Given the description of an element on the screen output the (x, y) to click on. 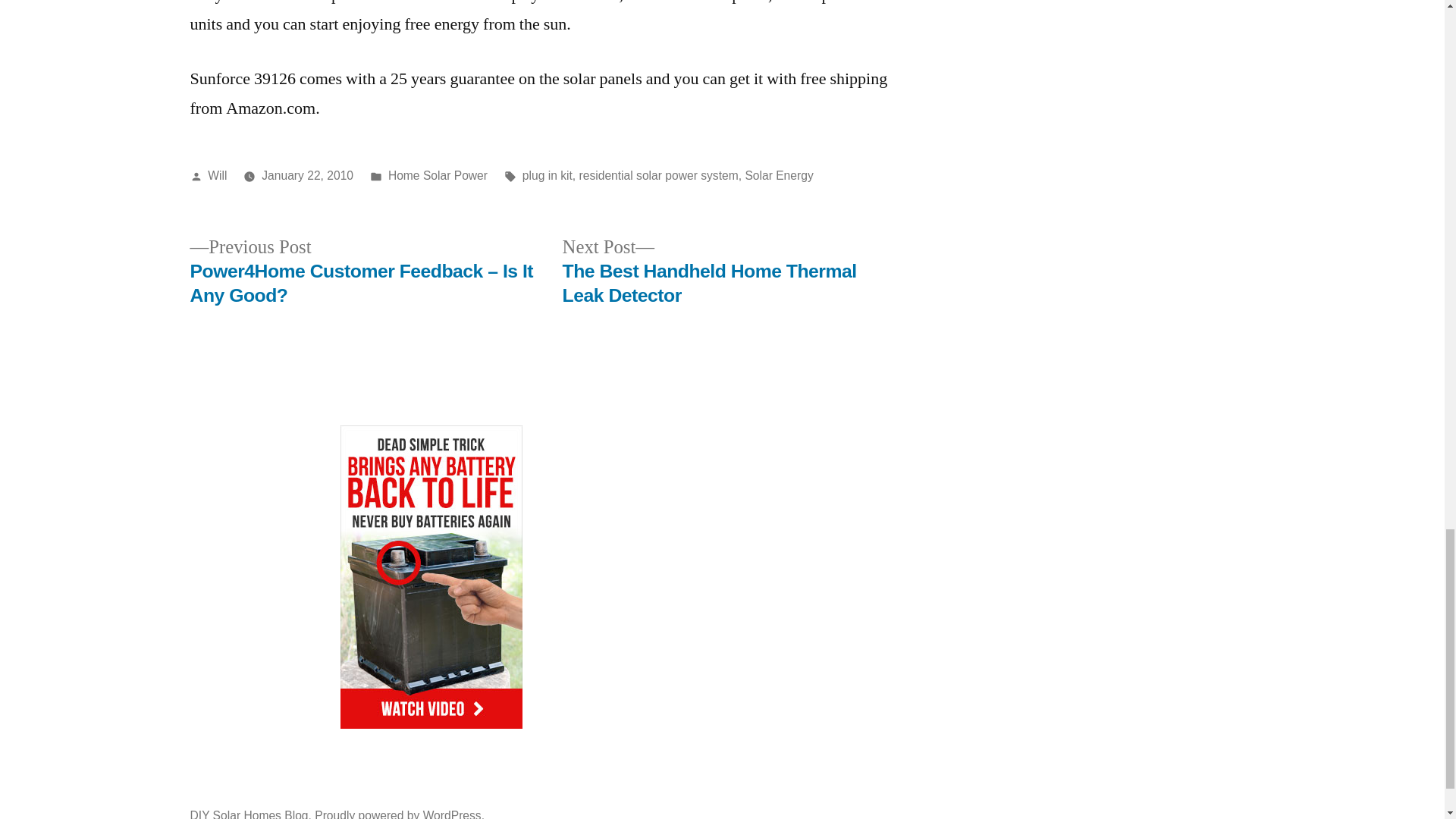
Proudly powered by WordPress. (399, 814)
plug in kit (547, 174)
Will (217, 174)
Home Solar Power (437, 174)
Solar Energy (778, 174)
January 22, 2010 (307, 174)
DIY Solar Homes Blog (248, 814)
residential solar power system (658, 174)
